Given the description of an element on the screen output the (x, y) to click on. 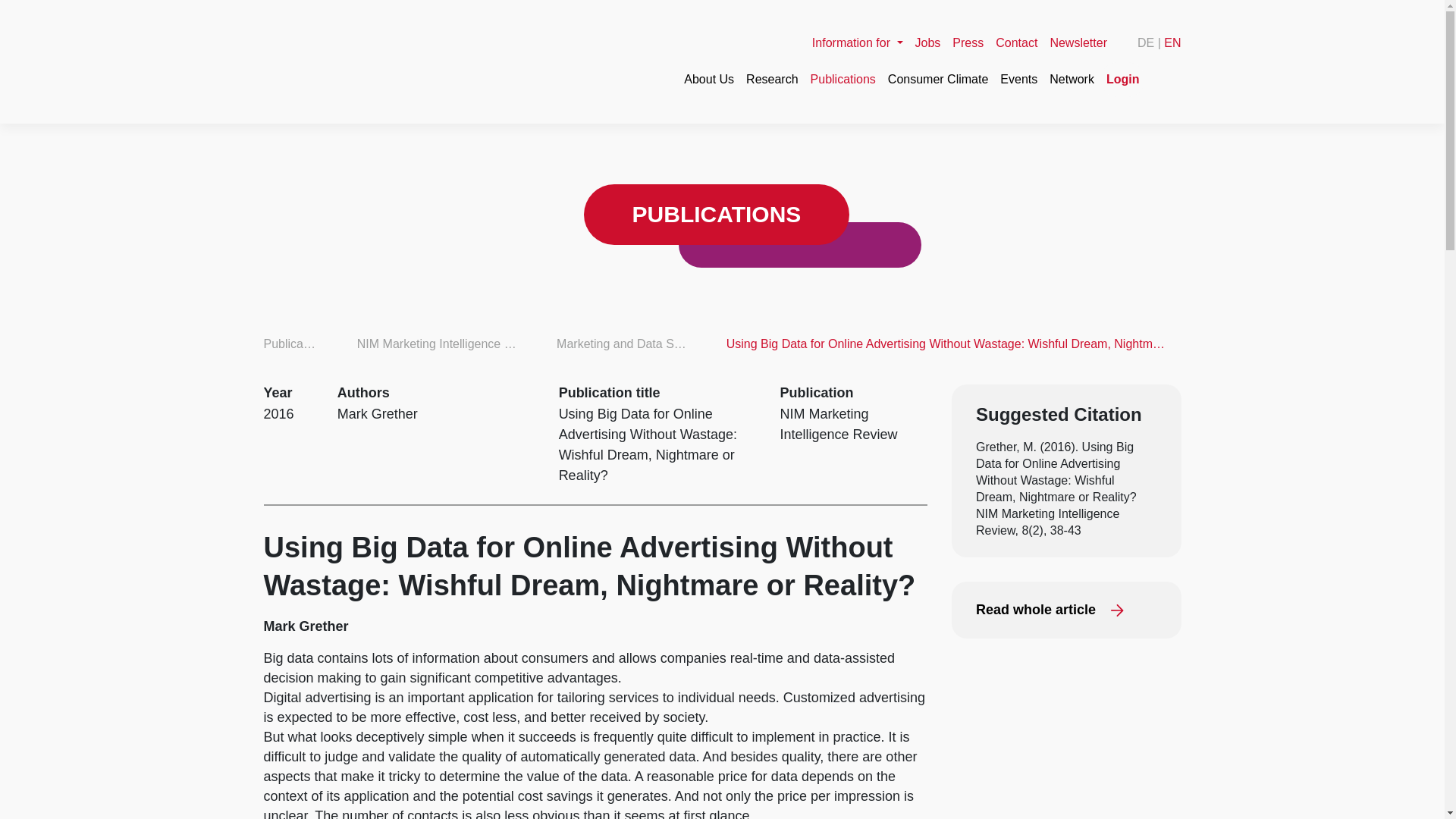
Research (771, 79)
Newsletter (1078, 42)
Publications (843, 79)
About Us (708, 79)
Contact (1016, 42)
Information for (857, 42)
Jobs (927, 42)
Press (968, 42)
DE (1145, 42)
